Given the description of an element on the screen output the (x, y) to click on. 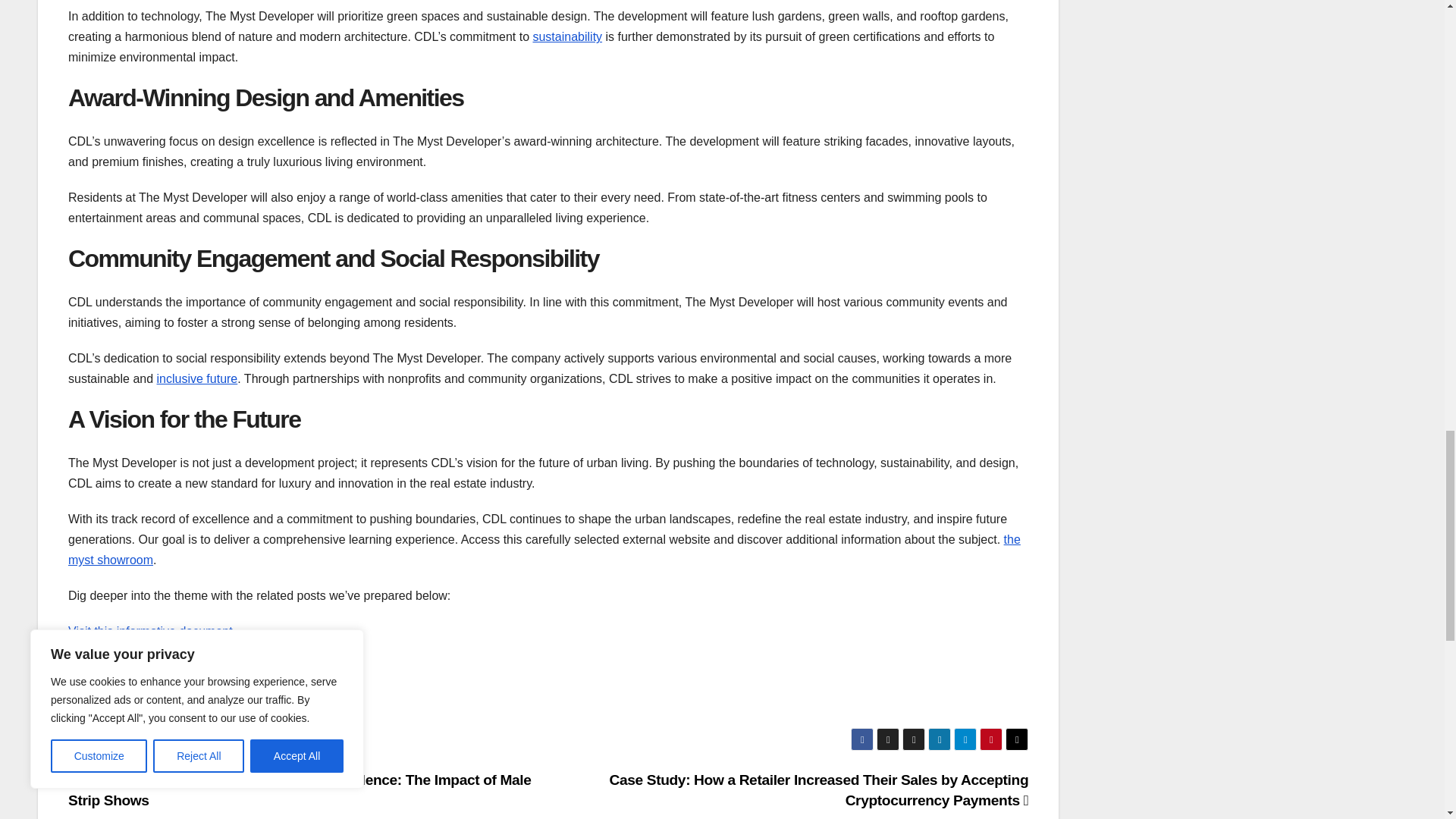
Visit this informative document (150, 631)
Review this related text (130, 702)
sustainability (567, 36)
Delve into this interesting material (159, 666)
inclusive future (197, 378)
the myst showroom (544, 549)
